Given the description of an element on the screen output the (x, y) to click on. 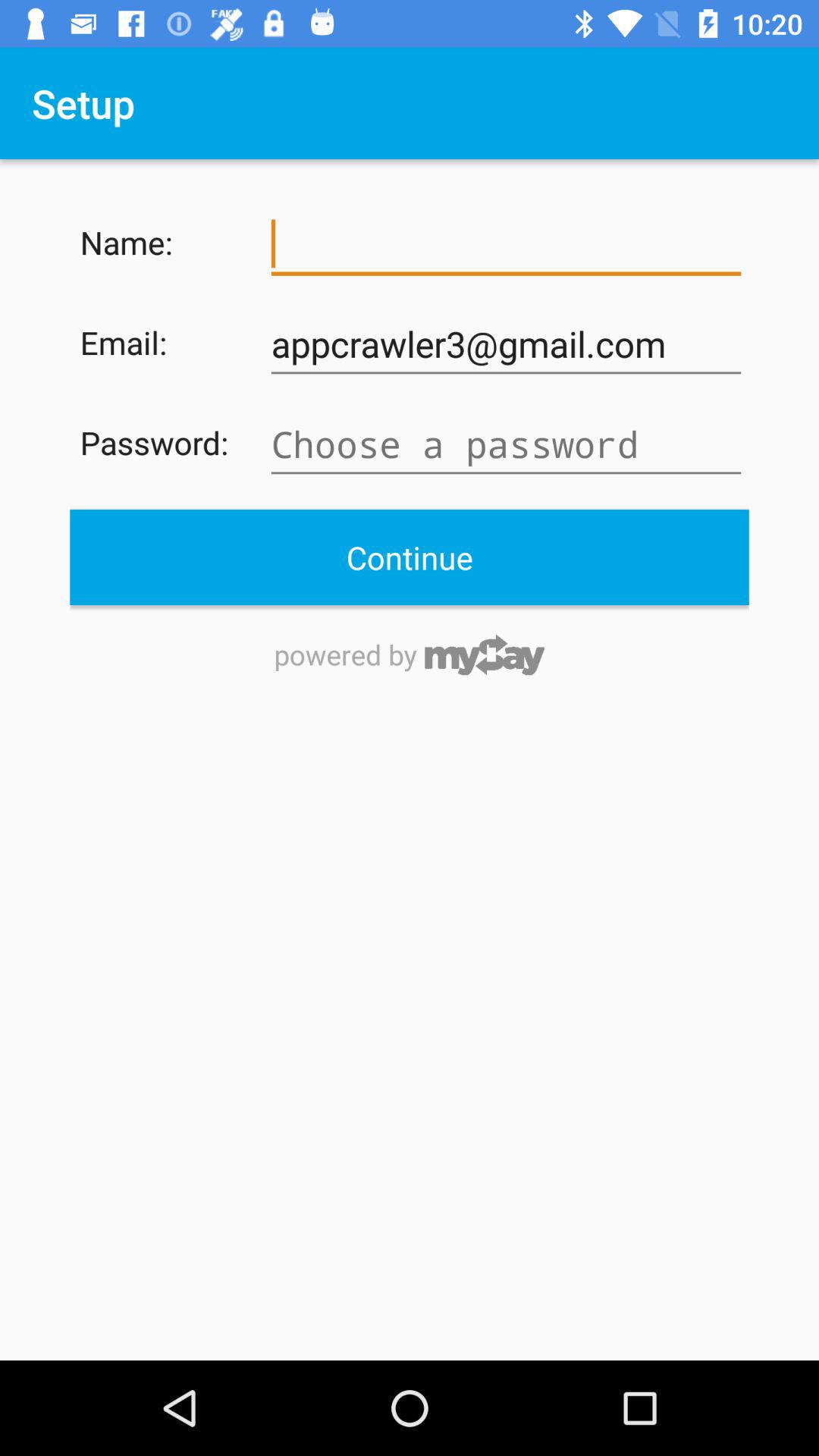
choose the item to the right of the email: (506, 344)
